Given the description of an element on the screen output the (x, y) to click on. 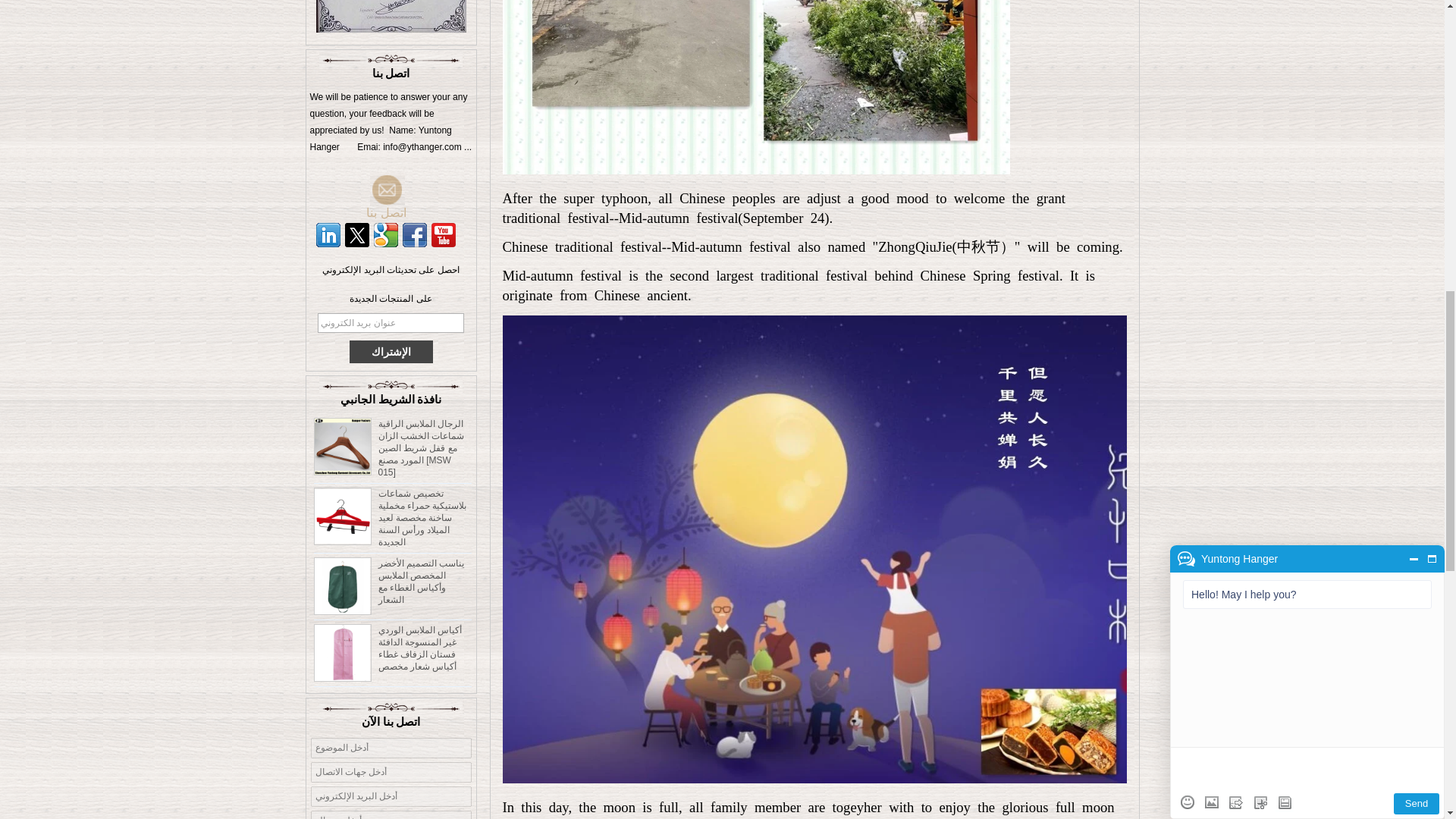
LinkedIn (327, 234)
